Given the description of an element on the screen output the (x, y) to click on. 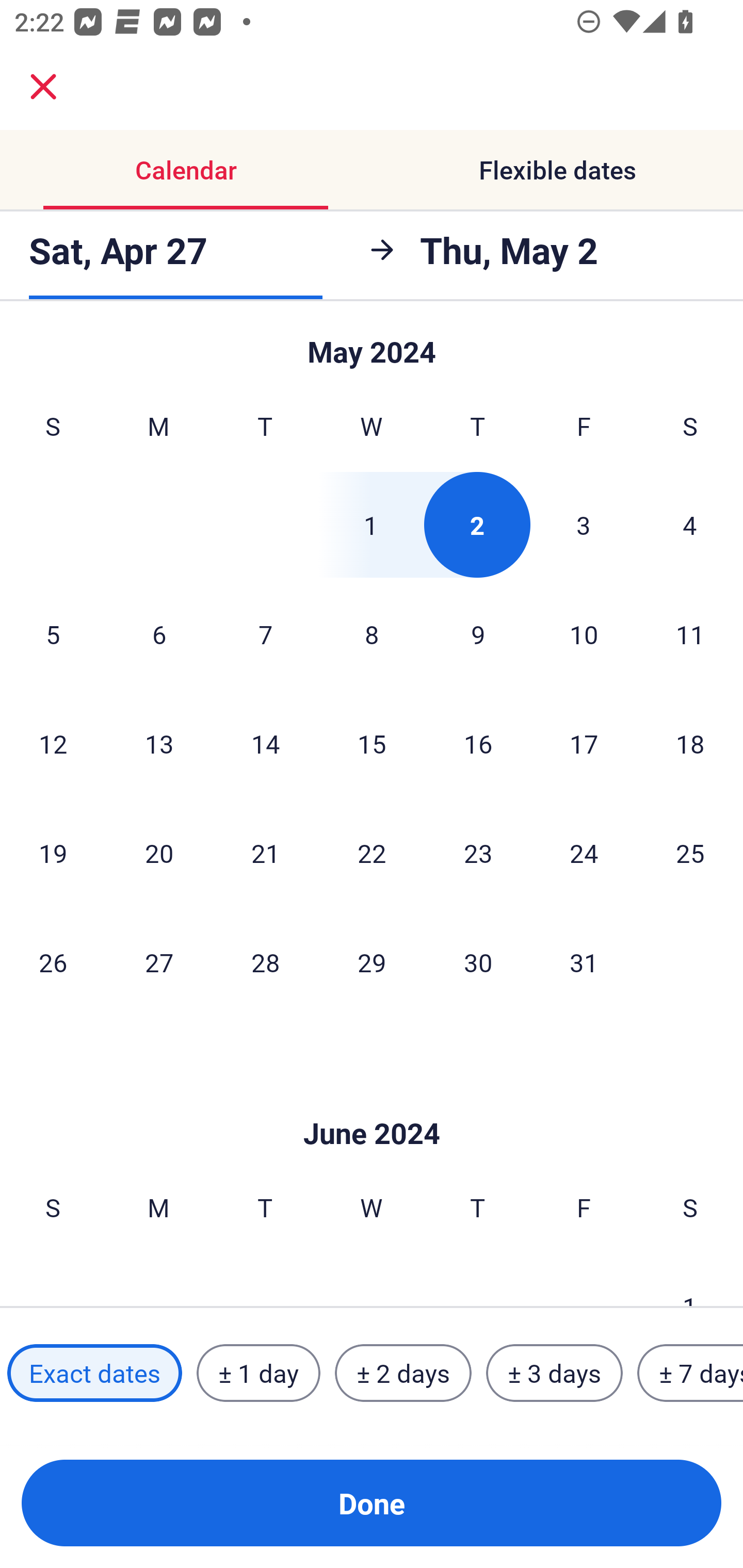
close. (43, 86)
Flexible dates (557, 170)
3 Friday, May 3, 2024 (583, 524)
4 Saturday, May 4, 2024 (689, 524)
5 Sunday, May 5, 2024 (53, 633)
6 Monday, May 6, 2024 (159, 633)
7 Tuesday, May 7, 2024 (265, 633)
8 Wednesday, May 8, 2024 (371, 633)
9 Thursday, May 9, 2024 (477, 633)
10 Friday, May 10, 2024 (584, 633)
11 Saturday, May 11, 2024 (690, 633)
12 Sunday, May 12, 2024 (53, 742)
13 Monday, May 13, 2024 (159, 742)
14 Tuesday, May 14, 2024 (265, 742)
15 Wednesday, May 15, 2024 (371, 742)
16 Thursday, May 16, 2024 (477, 742)
17 Friday, May 17, 2024 (584, 742)
18 Saturday, May 18, 2024 (690, 742)
19 Sunday, May 19, 2024 (53, 852)
20 Monday, May 20, 2024 (159, 852)
21 Tuesday, May 21, 2024 (265, 852)
22 Wednesday, May 22, 2024 (371, 852)
23 Thursday, May 23, 2024 (477, 852)
24 Friday, May 24, 2024 (584, 852)
25 Saturday, May 25, 2024 (690, 852)
26 Sunday, May 26, 2024 (53, 961)
27 Monday, May 27, 2024 (159, 961)
28 Tuesday, May 28, 2024 (265, 961)
29 Wednesday, May 29, 2024 (371, 961)
30 Thursday, May 30, 2024 (477, 961)
31 Friday, May 31, 2024 (584, 961)
Skip to Done (371, 1102)
Exact dates (94, 1372)
± 1 day (258, 1372)
± 2 days (403, 1372)
± 3 days (553, 1372)
± 7 days (690, 1372)
Done (371, 1502)
